Given the description of an element on the screen output the (x, y) to click on. 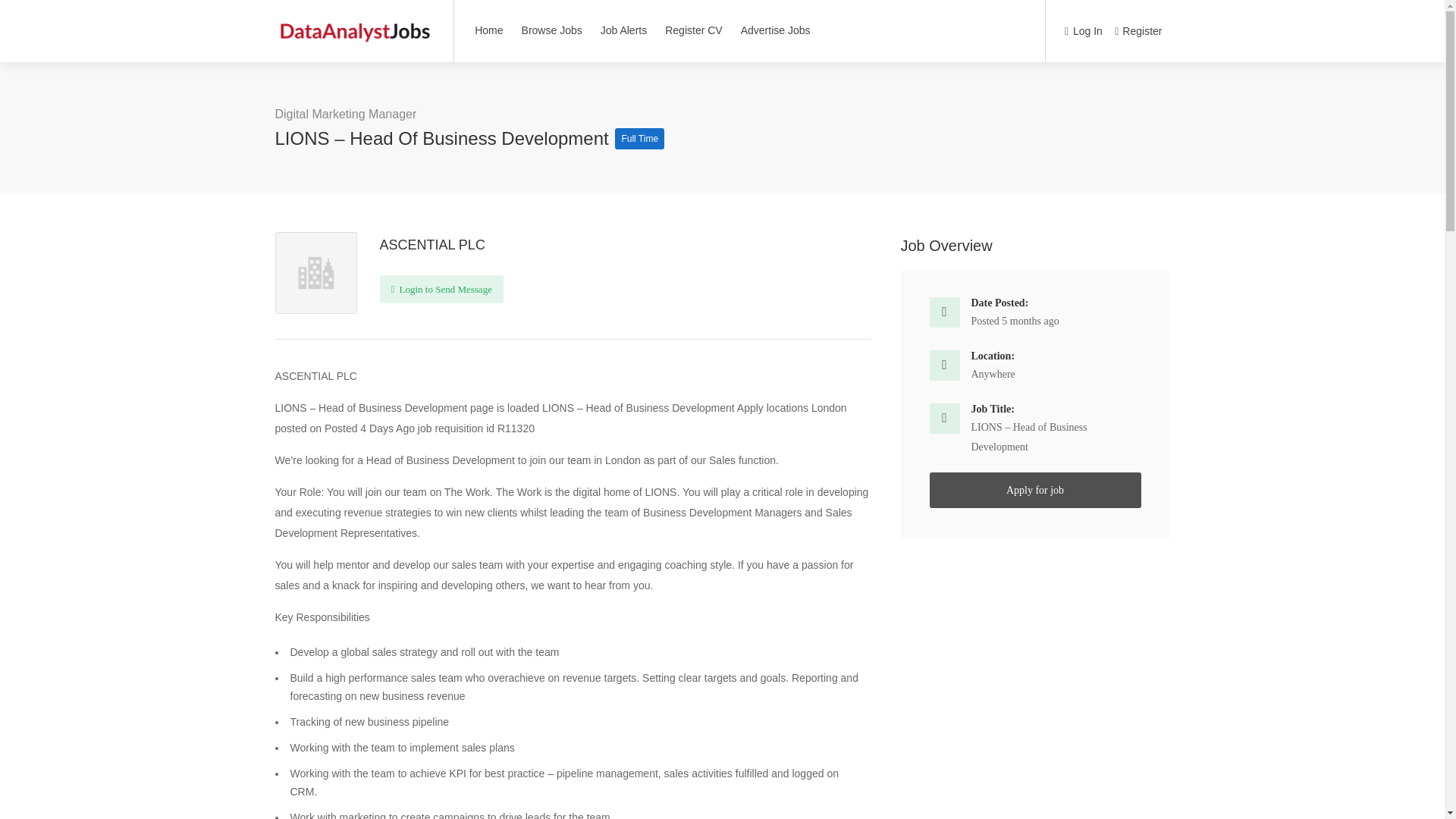
Register (1138, 31)
Job Alerts (623, 30)
Digital Marketing Manager (345, 113)
Home (488, 30)
Browse Jobs (552, 30)
Register CV (693, 30)
Advertise Jobs (775, 30)
Apply for job (1035, 489)
Log In (1083, 31)
ASCENTIAL PLC (431, 244)
